Given the description of an element on the screen output the (x, y) to click on. 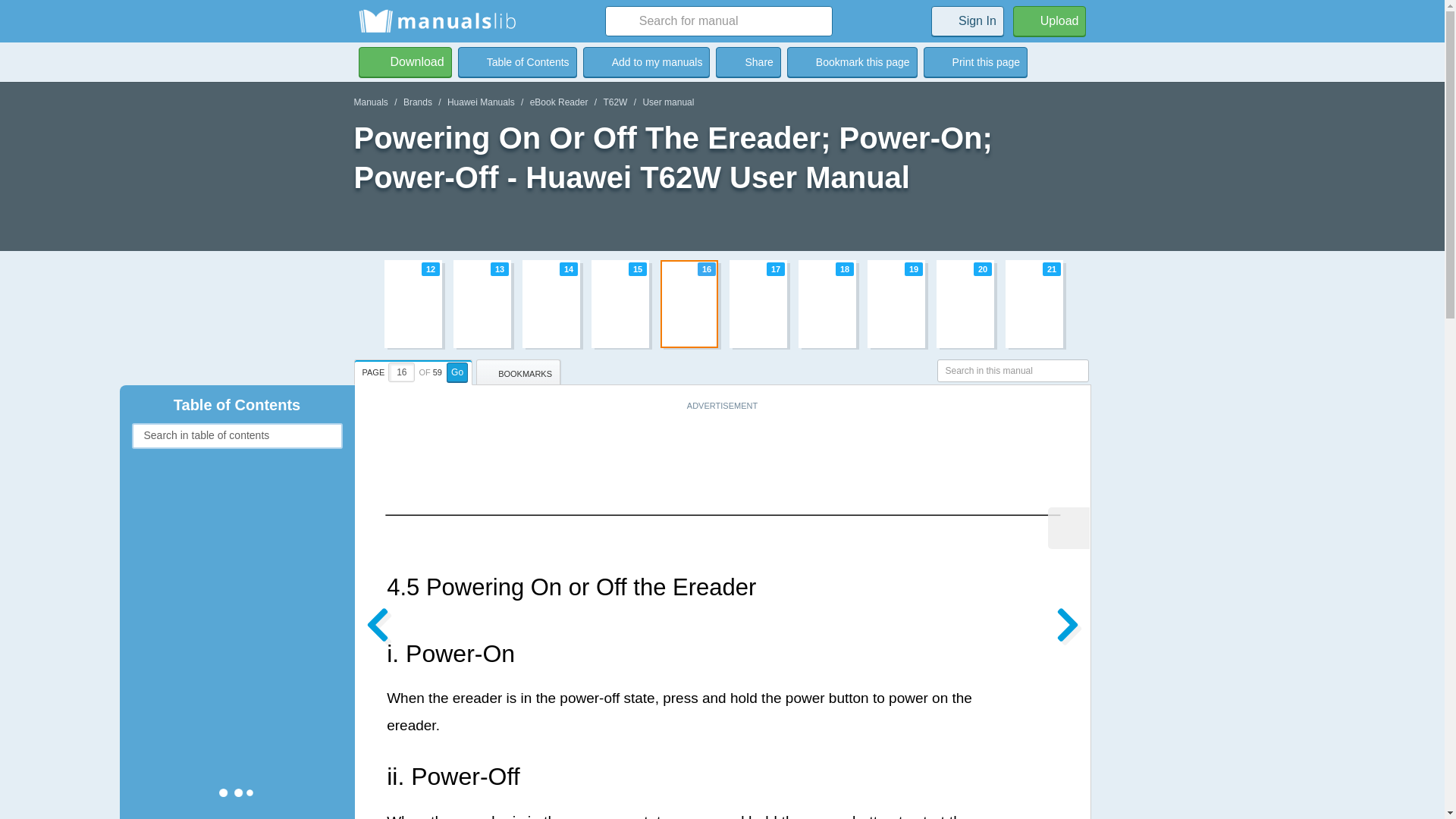
Add to my manuals (646, 61)
Upload (1049, 20)
Download this manual (404, 61)
Share (748, 61)
Download (404, 61)
Share this manual (748, 61)
T62W (721, 303)
Bookmark this manual (614, 102)
Sign In (646, 61)
